Given the description of an element on the screen output the (x, y) to click on. 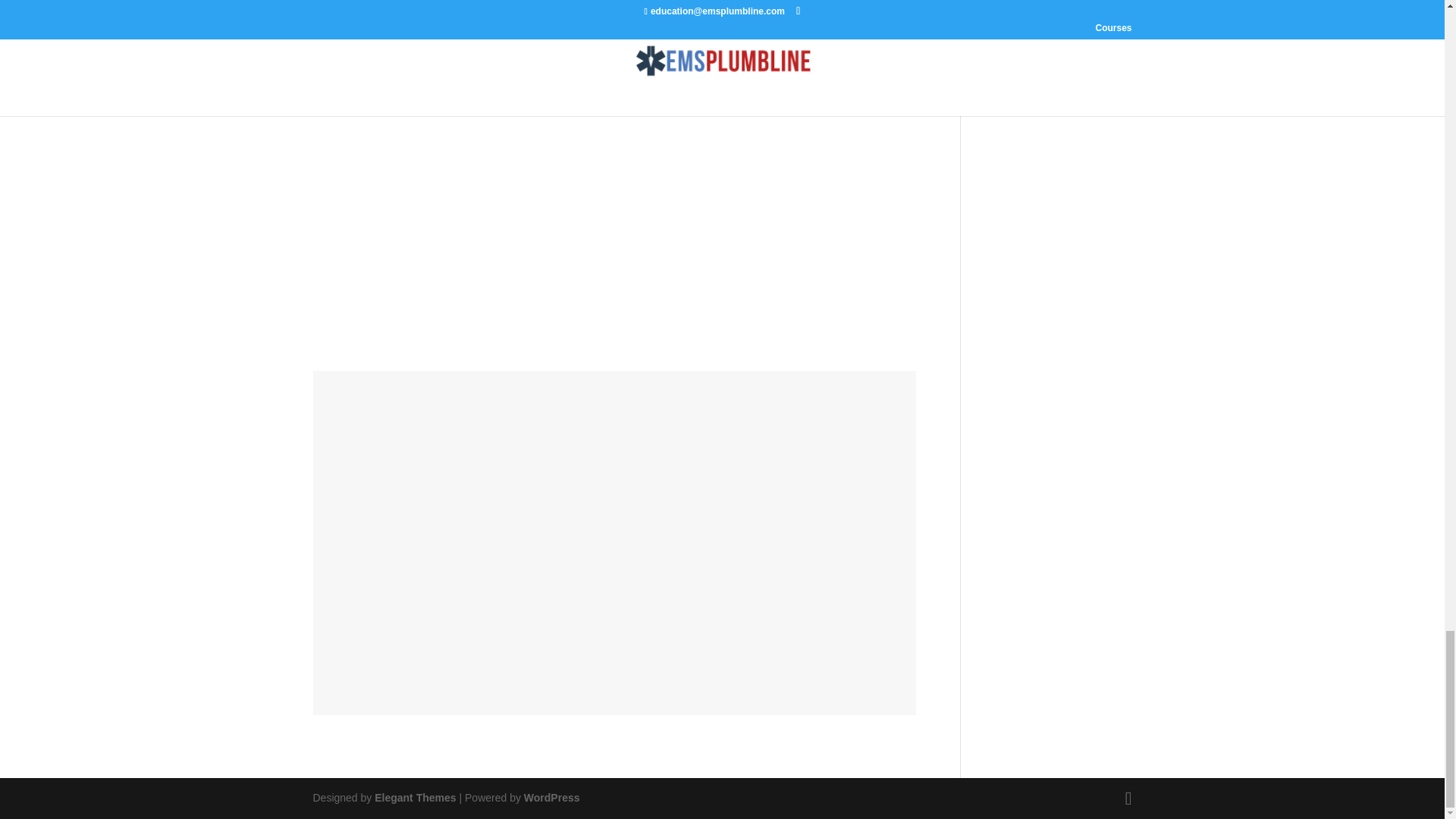
Premium WordPress Themes (414, 797)
WordPress (551, 797)
Elegant Themes (414, 797)
